Given the description of an element on the screen output the (x, y) to click on. 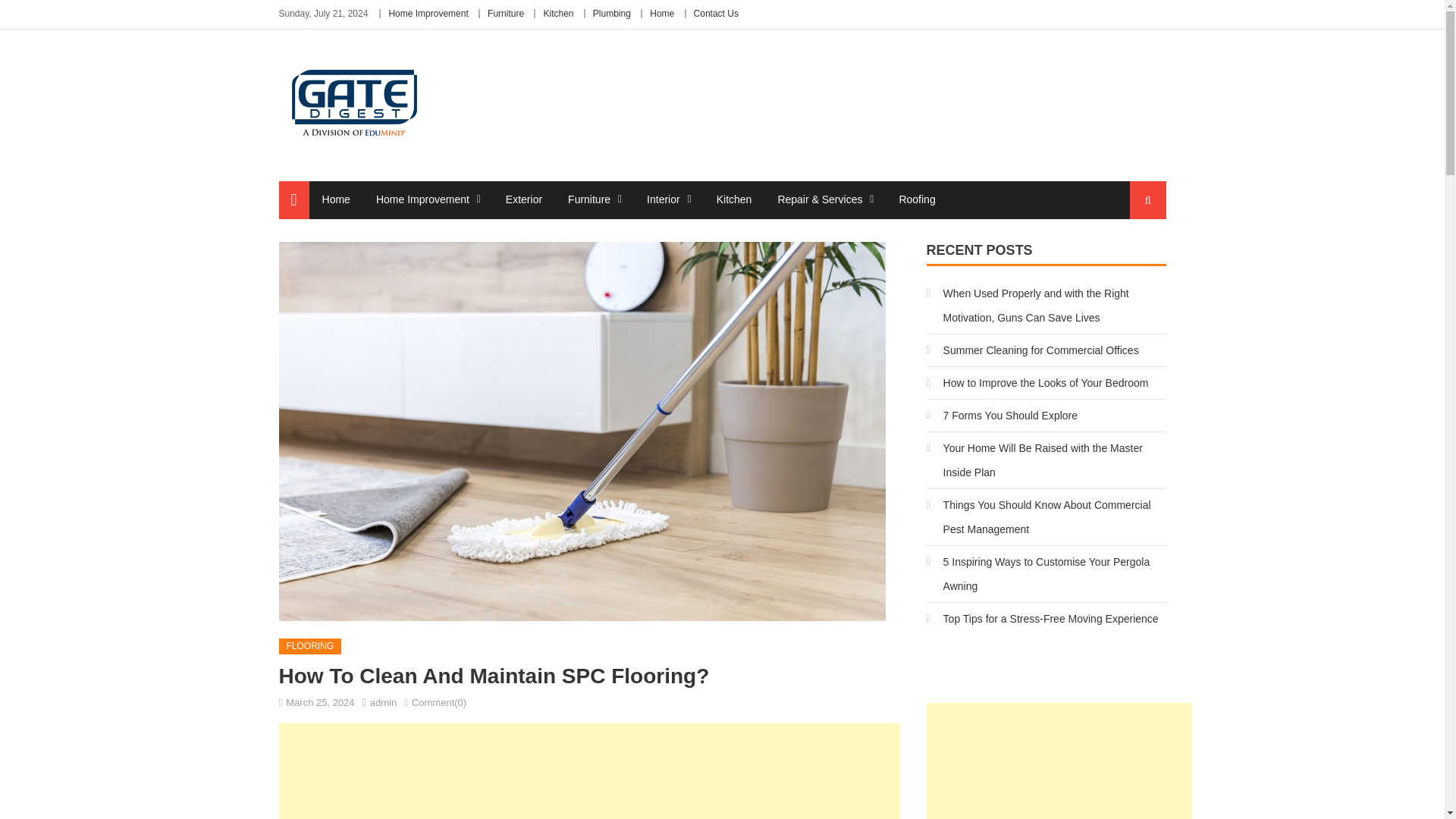
Home (336, 198)
admin (382, 702)
Kitchen (558, 13)
Interior (662, 198)
Home Improvement (422, 198)
Furniture (588, 198)
Search (1133, 257)
FLOORING (310, 646)
Plumbing (611, 13)
Kitchen (733, 198)
March 25, 2024 (319, 702)
Roofing (916, 198)
Summer Cleaning for Commercial Offices (1032, 350)
Home Improvement (427, 13)
